Given the description of an element on the screen output the (x, y) to click on. 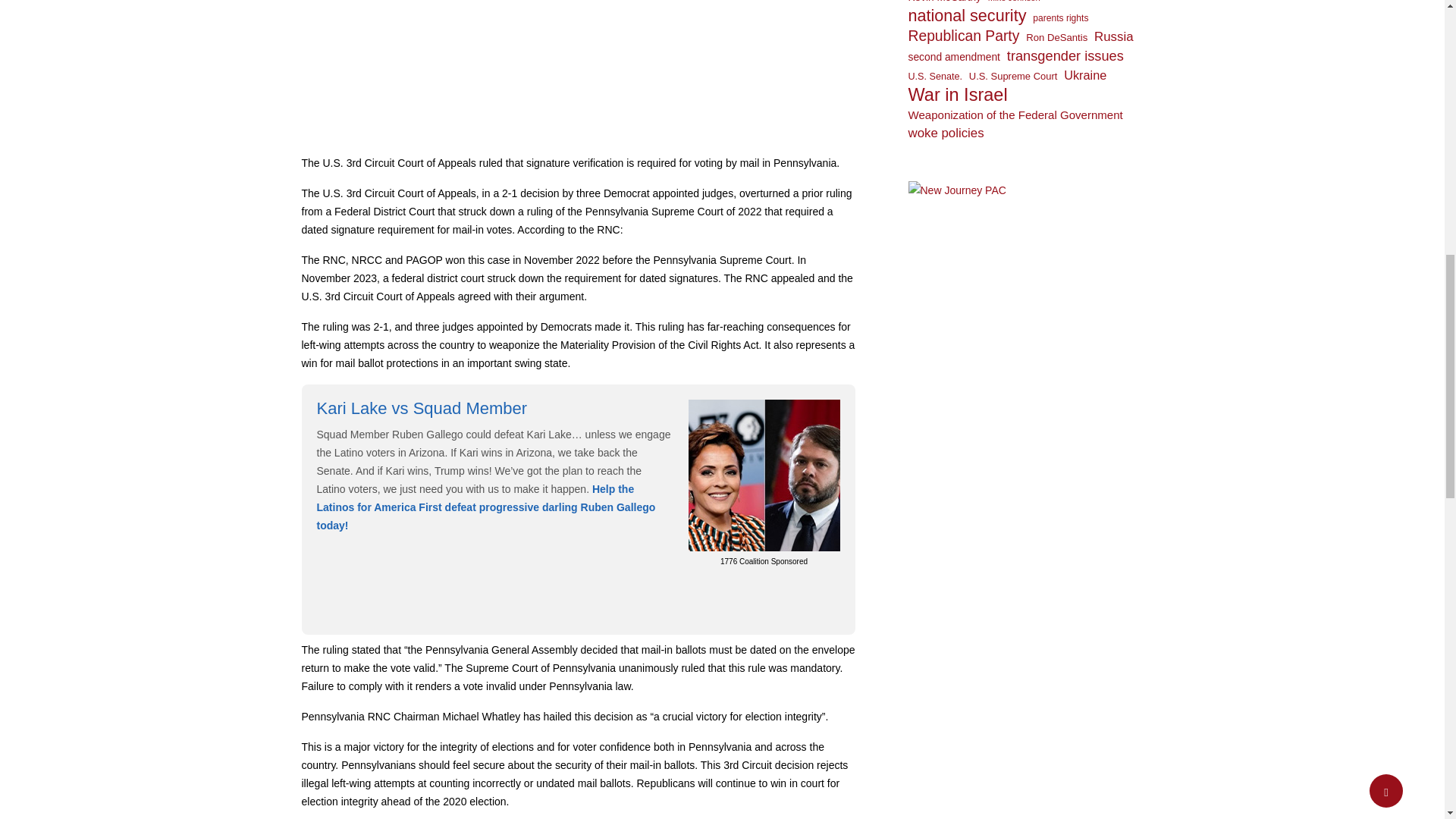
Kari Lake vs Squad Member (764, 473)
Kari Lake vs Squad Member (422, 407)
Kari Lake vs Squad Member (422, 407)
